Given the description of an element on the screen output the (x, y) to click on. 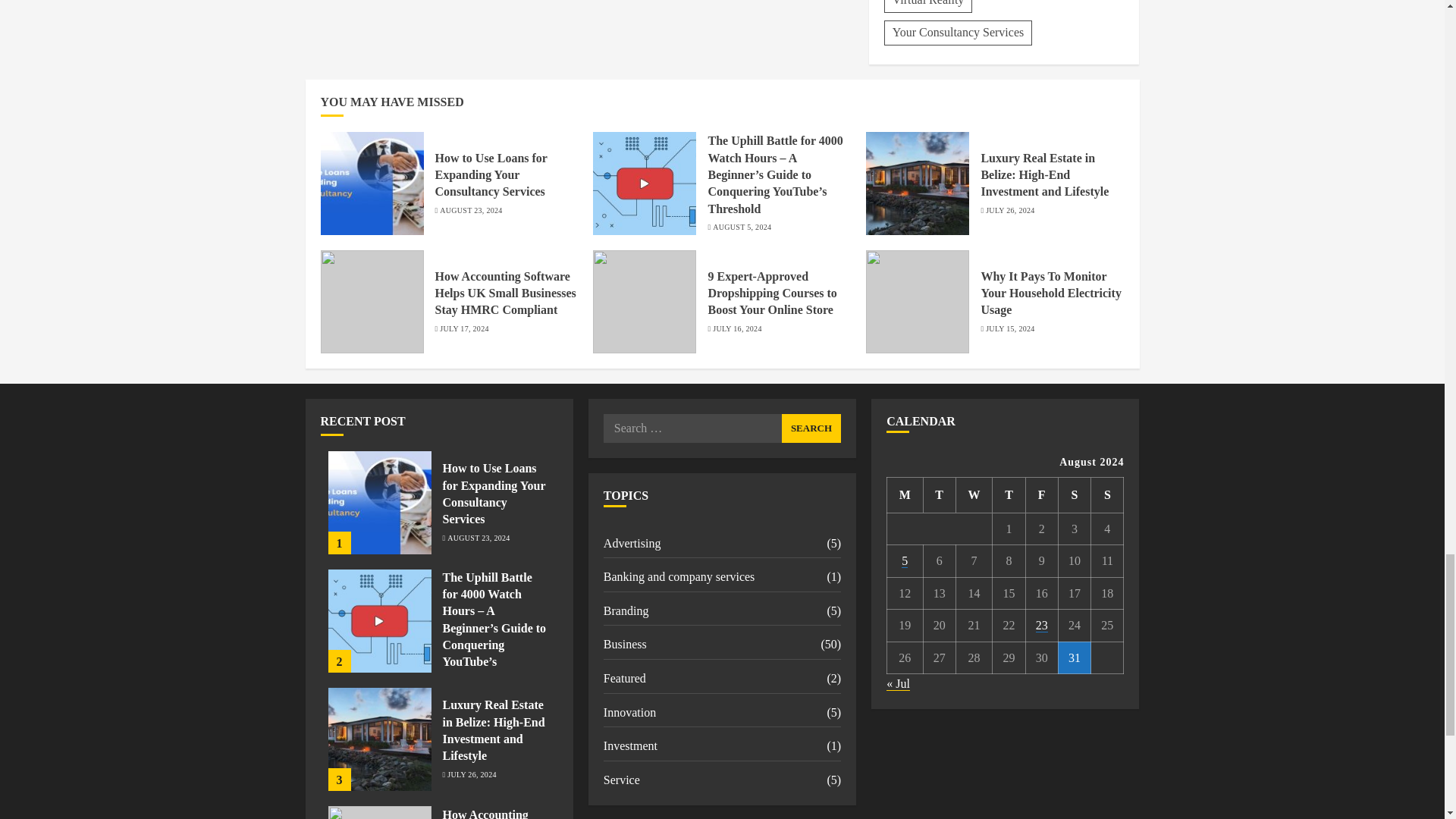
Tuesday (939, 494)
Sunday (1107, 494)
Thursday (1008, 494)
Monday (904, 494)
Search (811, 428)
Saturday (1074, 494)
Friday (1041, 494)
Search (811, 428)
Wednesday (973, 494)
